Given the description of an element on the screen output the (x, y) to click on. 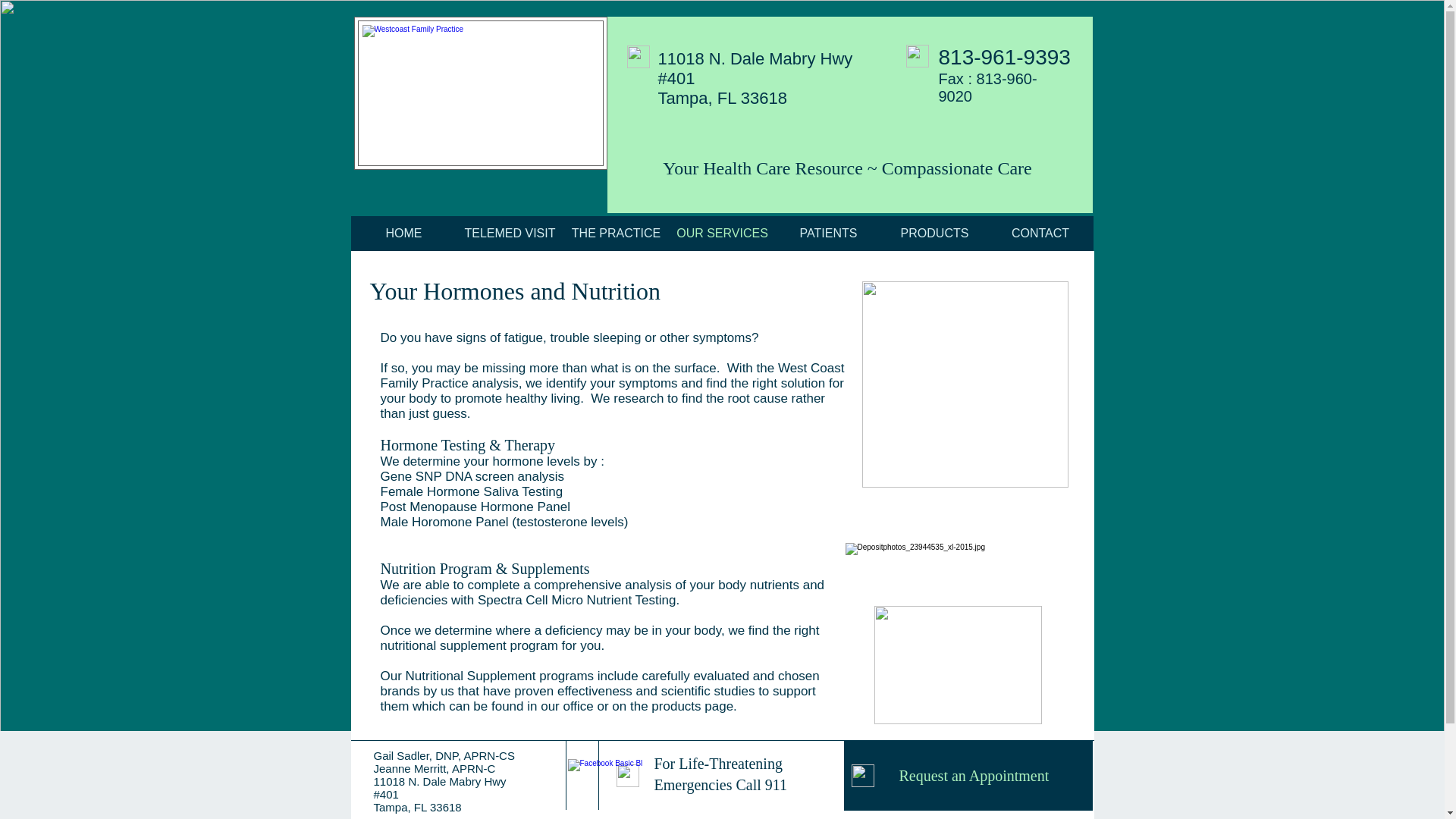
CONTACT (1040, 233)
OUR SERVICES (721, 233)
PRODUCTS (933, 233)
HOME (403, 233)
THE PRACTICE (615, 233)
TELEMED VISIT (509, 233)
WestCoast Family Home (480, 92)
Request an Appointment (967, 775)
PATIENTS (827, 233)
